Given the description of an element on the screen output the (x, y) to click on. 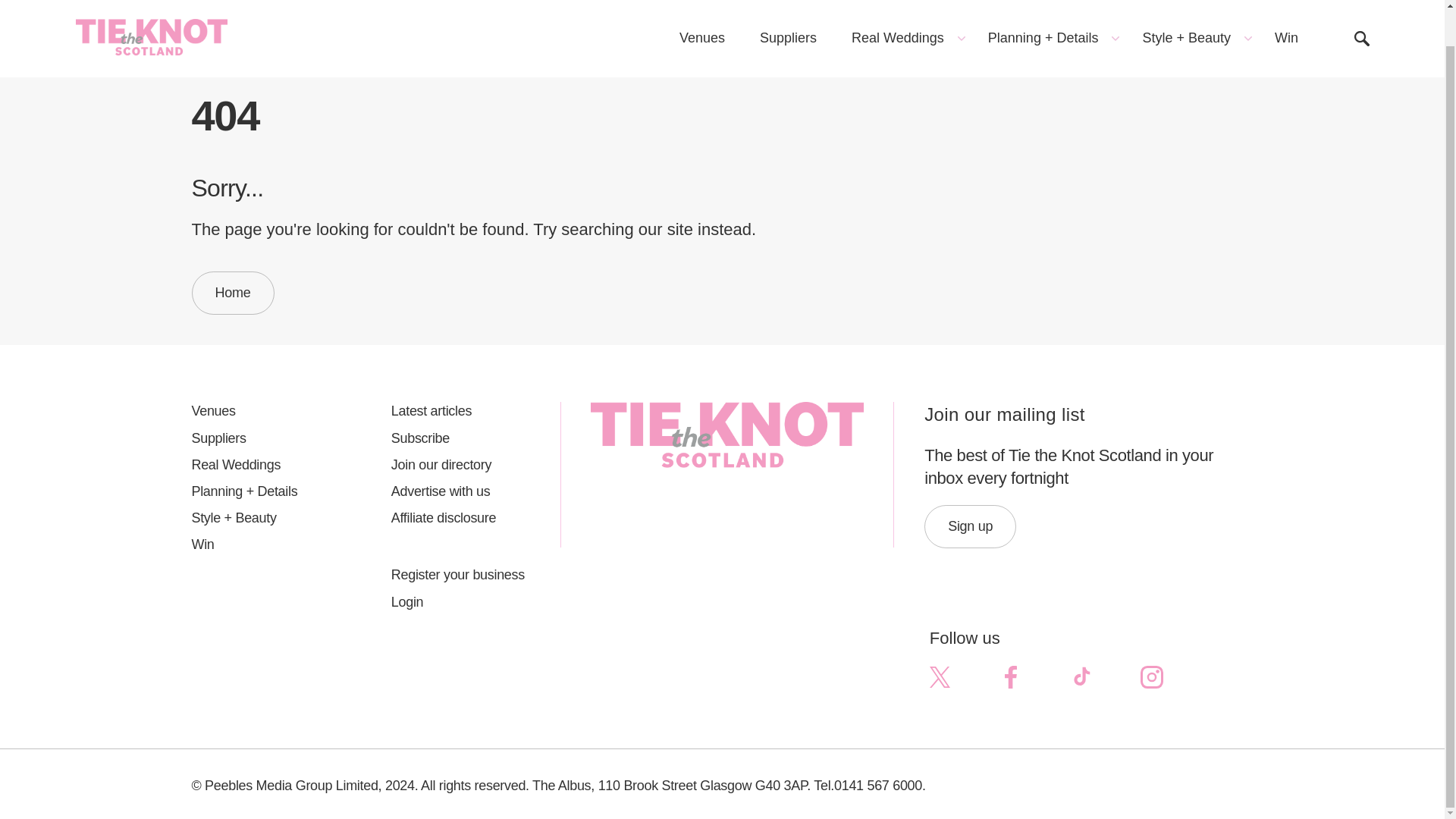
Venues (702, 7)
Home (231, 292)
Suppliers (260, 438)
Real Weddings (902, 7)
Suppliers (788, 7)
Venues (260, 411)
Real Weddings (260, 465)
Home (207, 62)
Win (1286, 7)
